Given the description of an element on the screen output the (x, y) to click on. 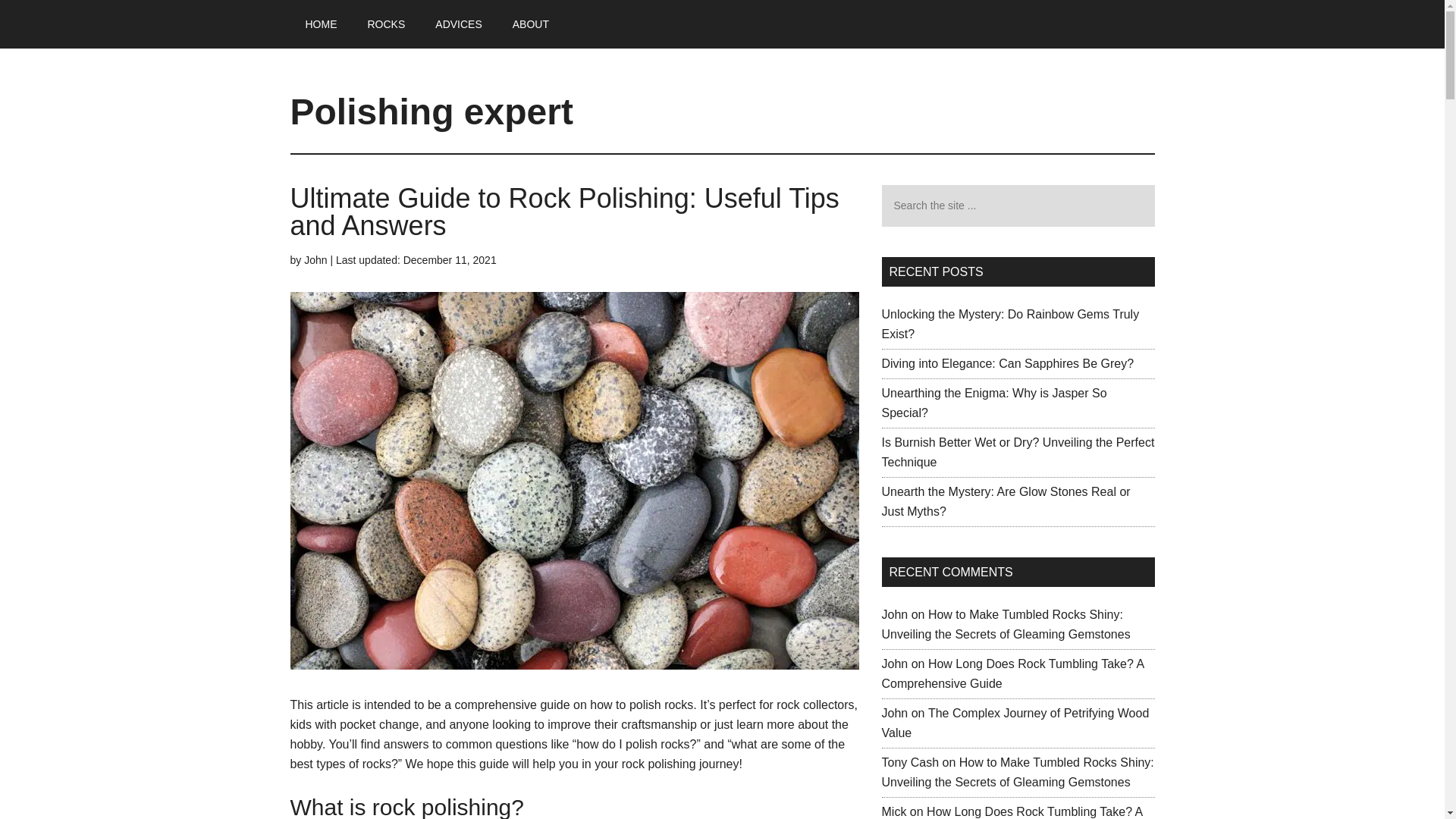
ROCKS (386, 24)
HOME (320, 24)
John (315, 259)
Polishing expert (430, 111)
ABOUT (530, 24)
ADVICES (458, 24)
